Given the description of an element on the screen output the (x, y) to click on. 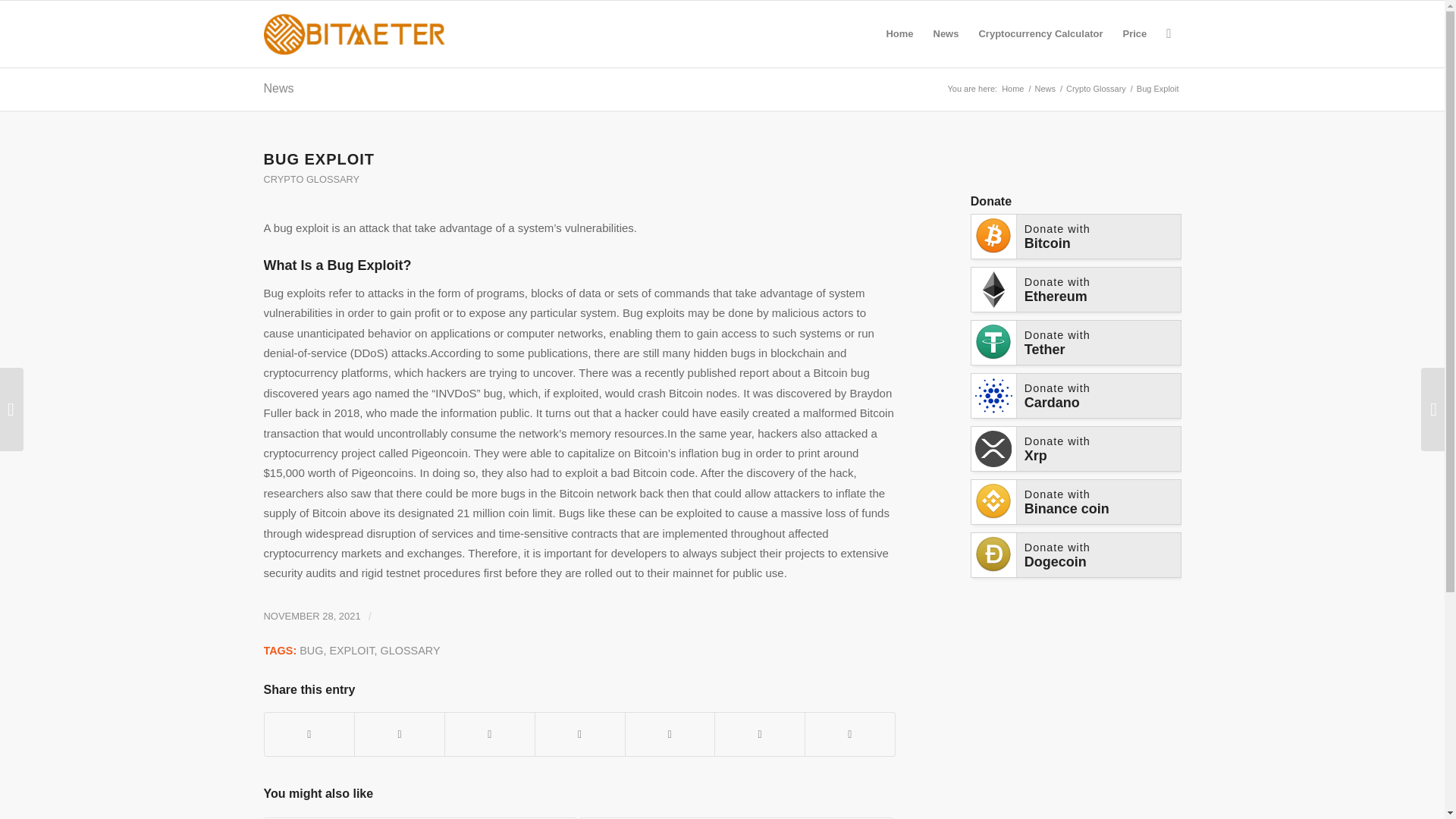
Crypto Glossary (1096, 89)
CRYPTO GLOSSARY (311, 179)
Permanent Link: News (278, 88)
News (278, 88)
GLOSSARY (410, 650)
EXPLOIT (351, 650)
Home (1012, 89)
BitMeter.net (1012, 89)
Cryptocurrency Calculator (1040, 33)
News (1045, 89)
News (1045, 89)
BUG (311, 650)
